Given the description of an element on the screen output the (x, y) to click on. 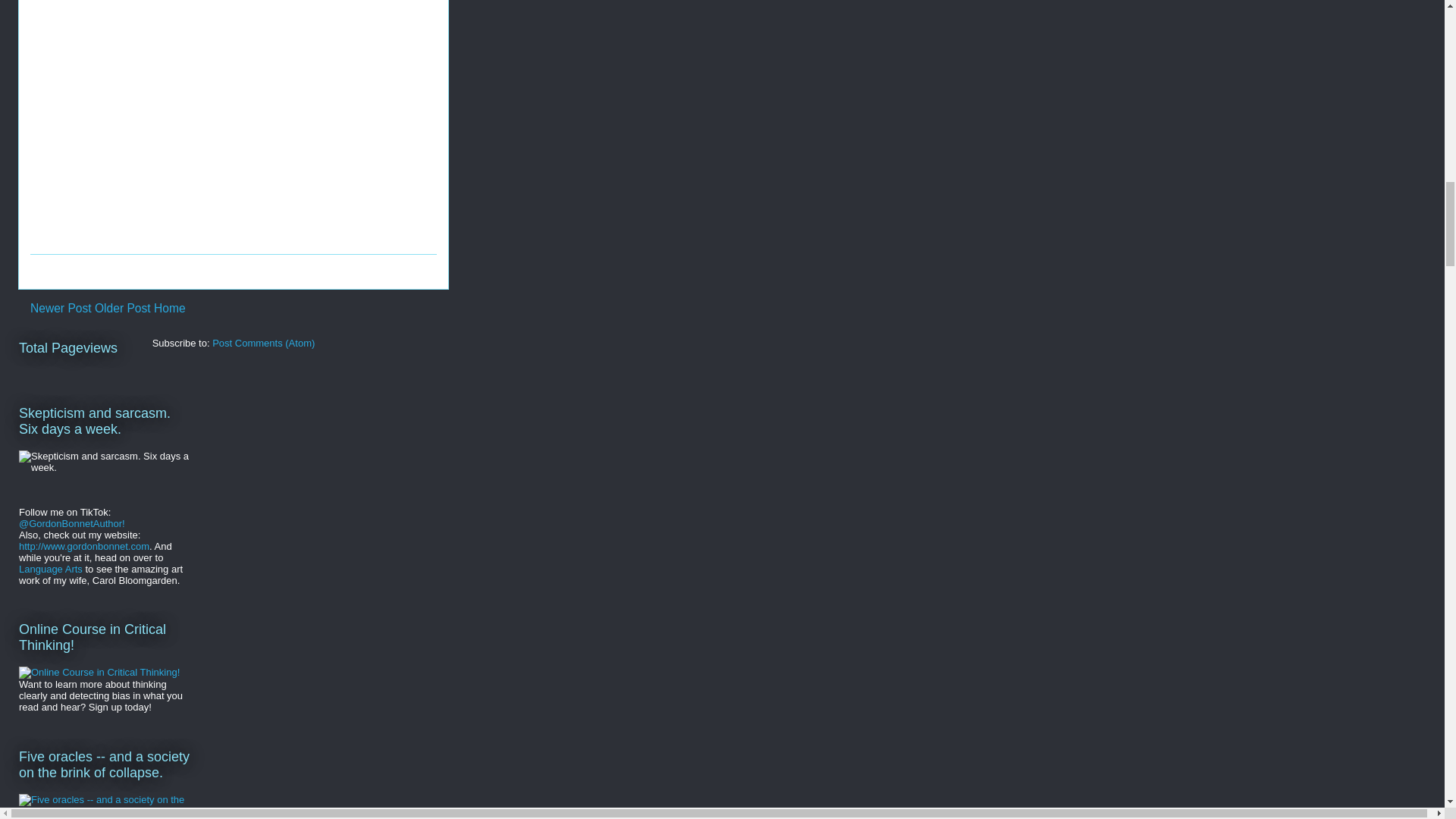
Newer Post (60, 308)
Newer Post (60, 308)
Older Post (122, 308)
Home (170, 308)
Older Post (122, 308)
